Given the description of an element on the screen output the (x, y) to click on. 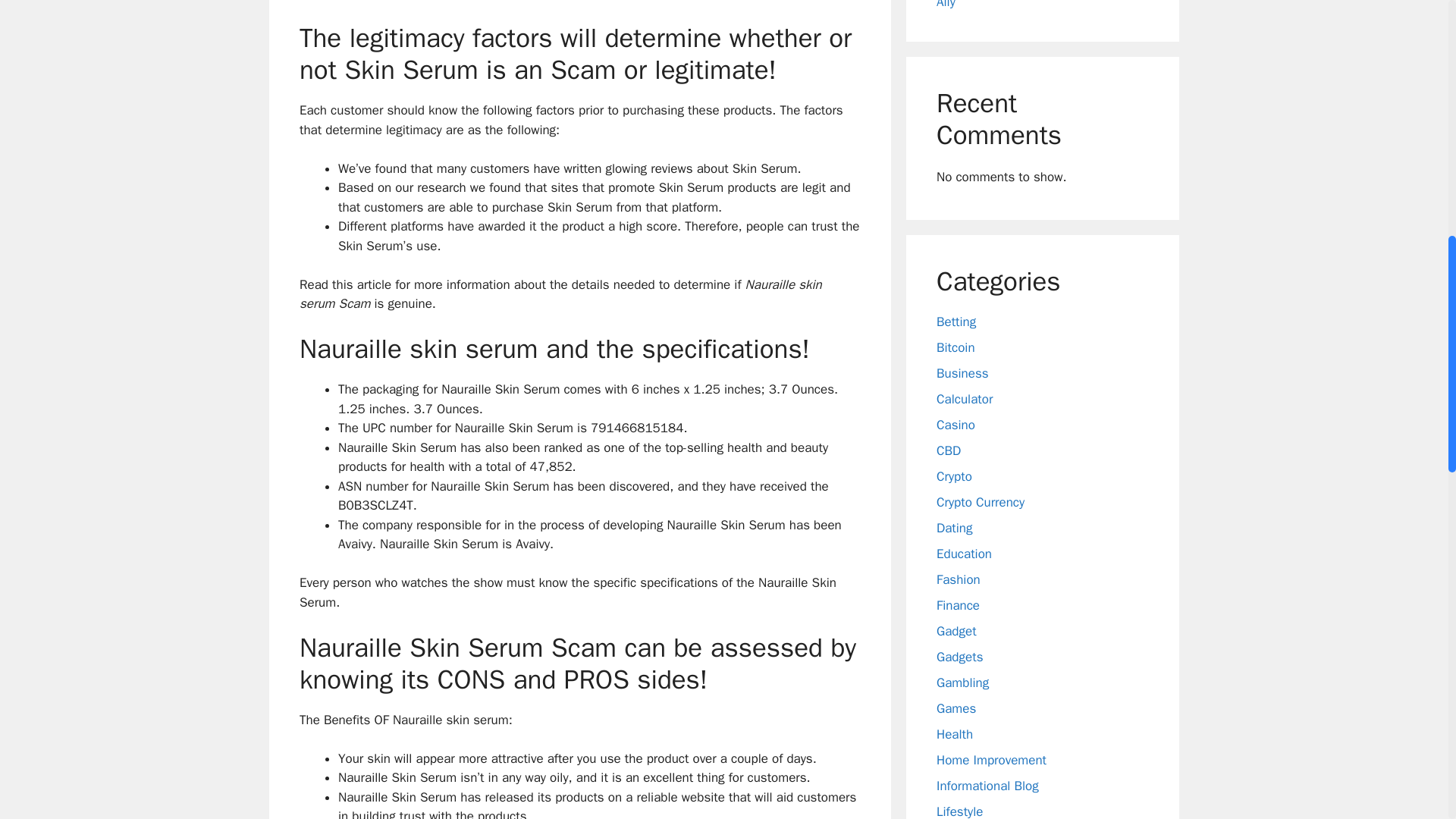
Education (963, 553)
Scroll back to top (1409, 720)
Betting (955, 321)
CBD (948, 450)
Casino (955, 424)
6 Easy Steps to Become an LGBTQ Ally (1035, 4)
Calculator (964, 399)
Bitcoin (955, 347)
Fashion (957, 579)
Crypto (954, 476)
Dating (954, 528)
Business (962, 373)
Crypto Currency (980, 502)
